Given the description of an element on the screen output the (x, y) to click on. 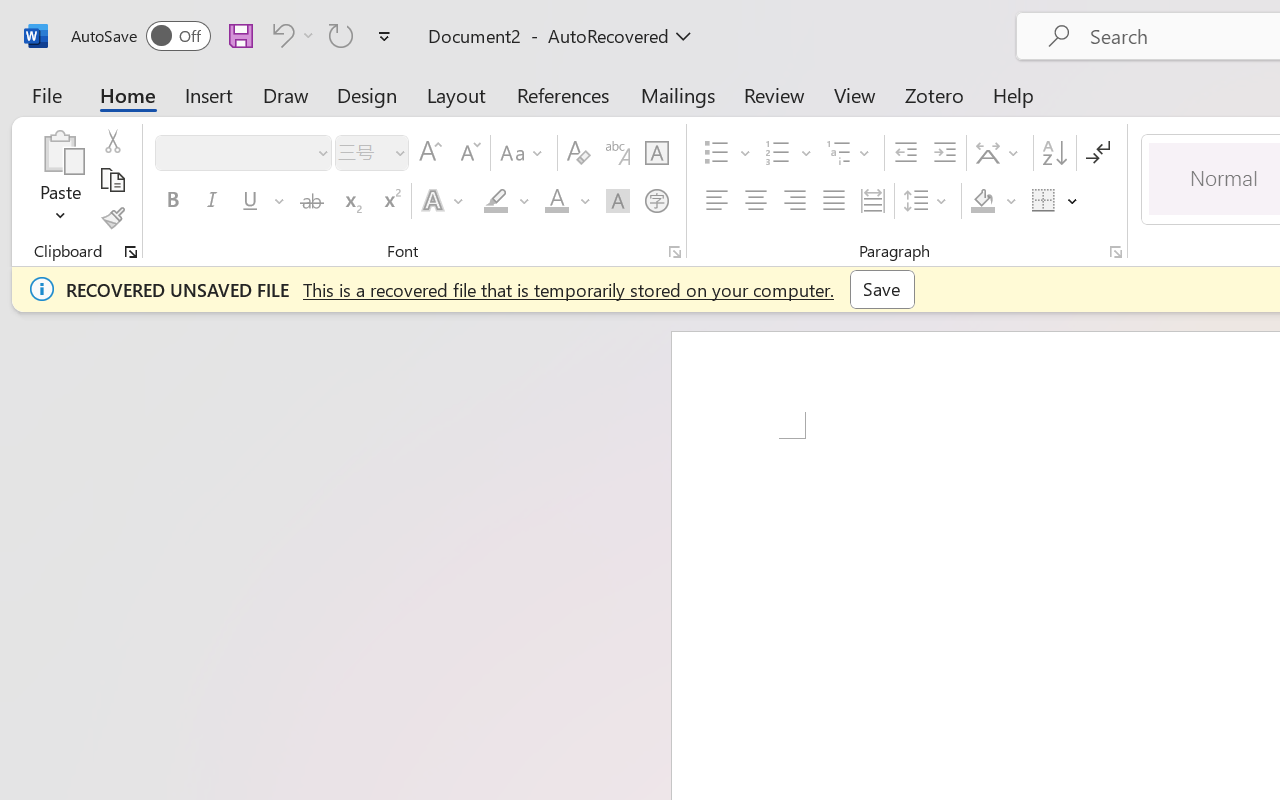
Sort... (1054, 153)
Shading RGB(0, 0, 0) (982, 201)
Cut (112, 141)
Asian Layout (1000, 153)
Text Effects and Typography (444, 201)
